Given the description of an element on the screen output the (x, y) to click on. 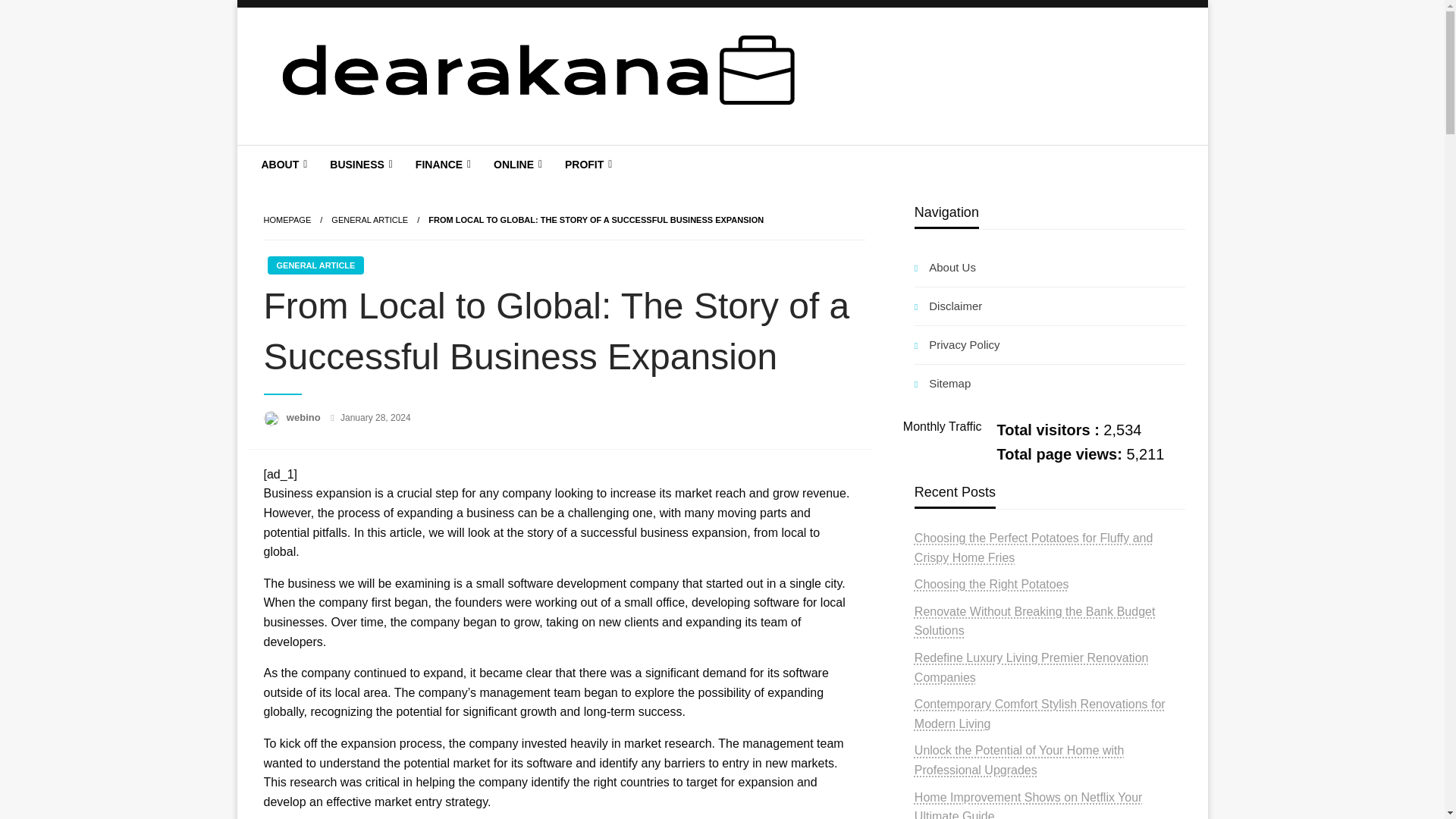
PROFIT (586, 164)
webino (304, 417)
GENERAL ARTICLE (369, 219)
GENERAL ARTICLE (315, 265)
General Article (369, 219)
Homepage (287, 219)
webino (304, 417)
FINANCE (441, 164)
Dearakana (337, 156)
